Given the description of an element on the screen output the (x, y) to click on. 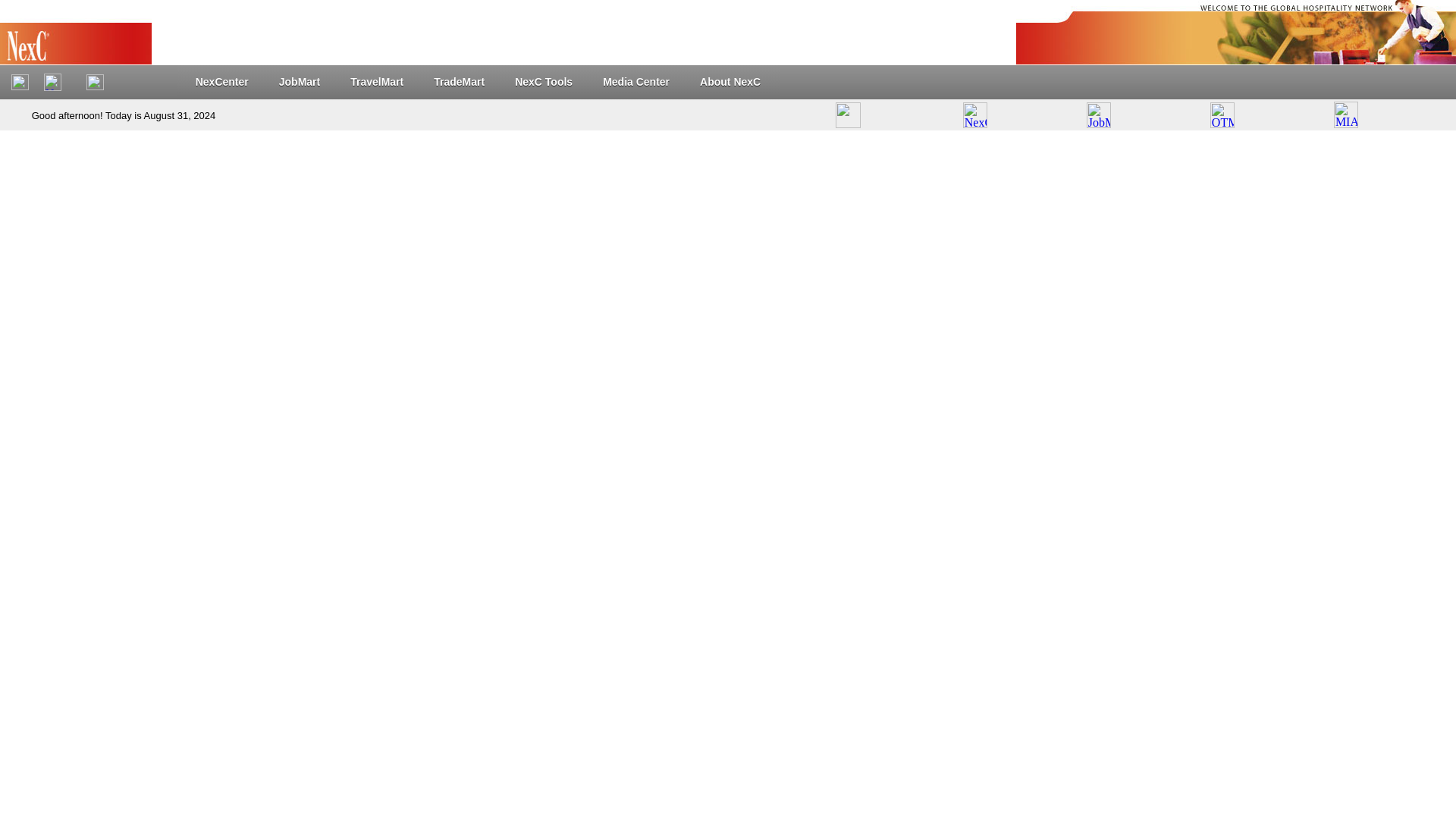
JobMart (298, 81)
TravelMart (376, 81)
NexCenter (221, 81)
